Given the description of an element on the screen output the (x, y) to click on. 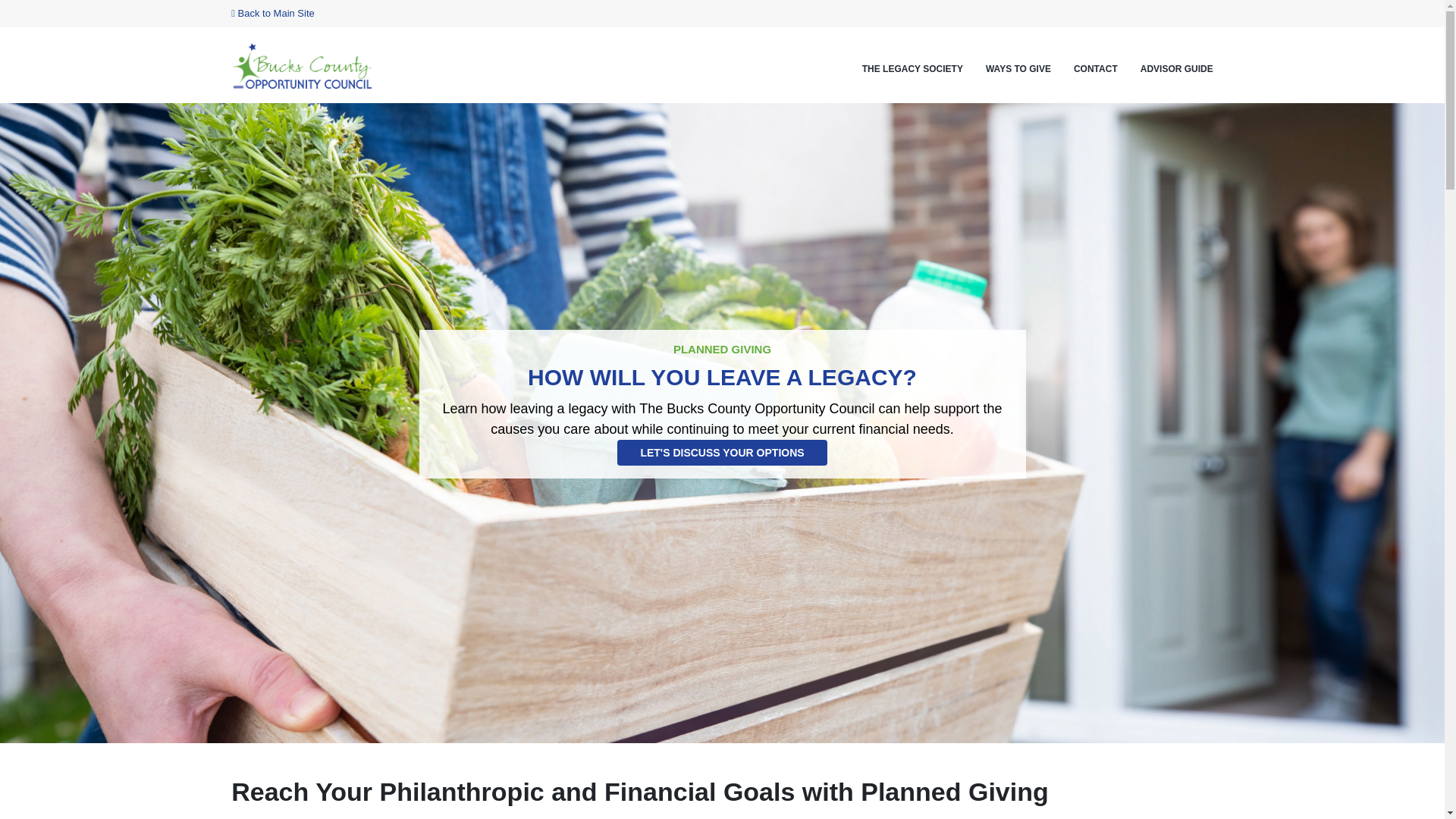
WAYS TO GIVE (1018, 68)
THE LEGACY SOCIETY (912, 68)
CONTACT (1095, 68)
WAYS TO GIVE (1018, 68)
CONTACT (1096, 68)
LET'S DISCUSS YOUR OPTIONS (722, 452)
ADVISOR GUIDE (1176, 68)
LET'S DISCUSS YOUR OPTIONS (722, 452)
Back to Main Site (272, 12)
THE LEGACY SOCIETY (911, 68)
